Given the description of an element on the screen output the (x, y) to click on. 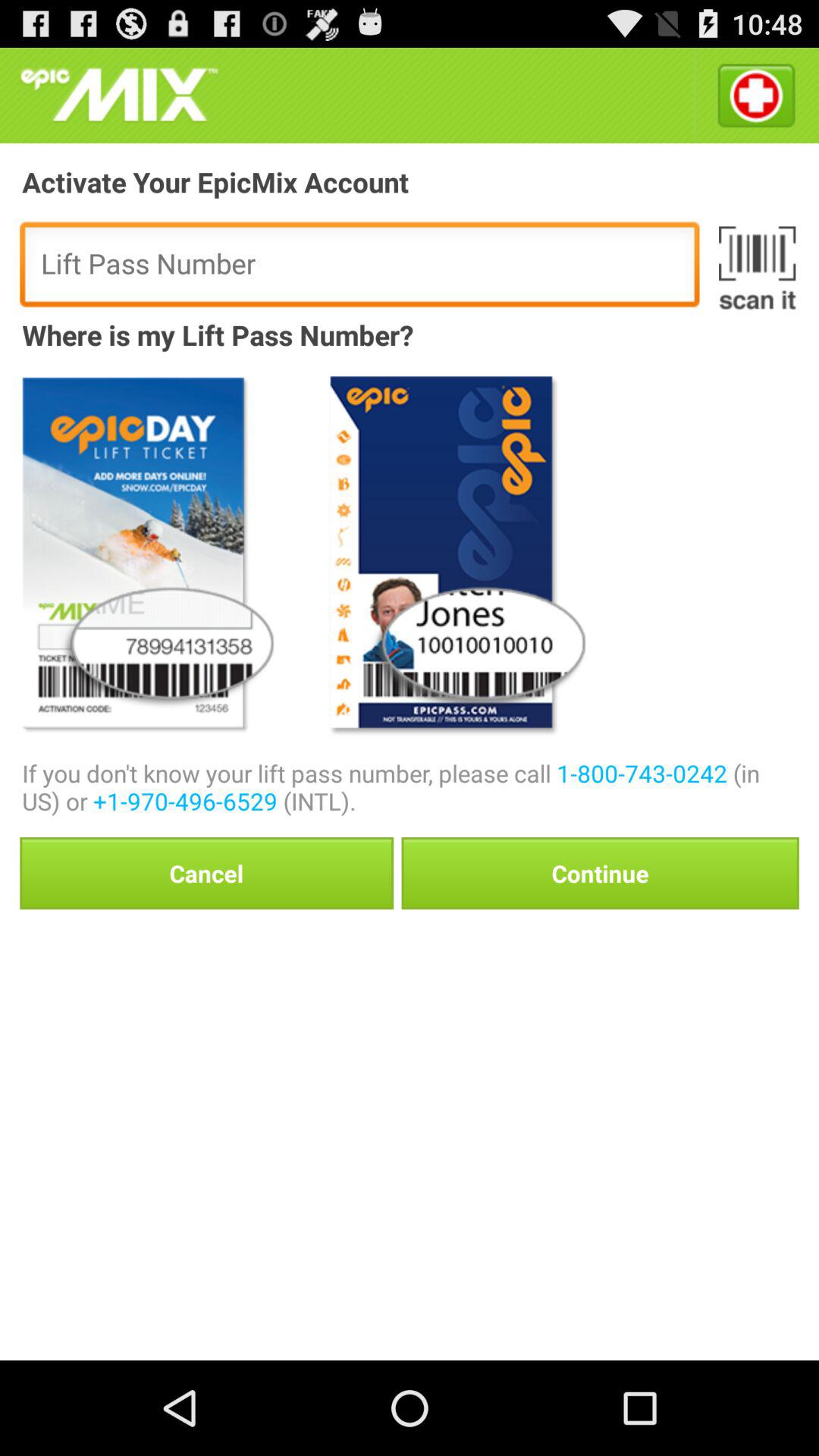
scroll until if you don item (410, 787)
